Given the description of an element on the screen output the (x, y) to click on. 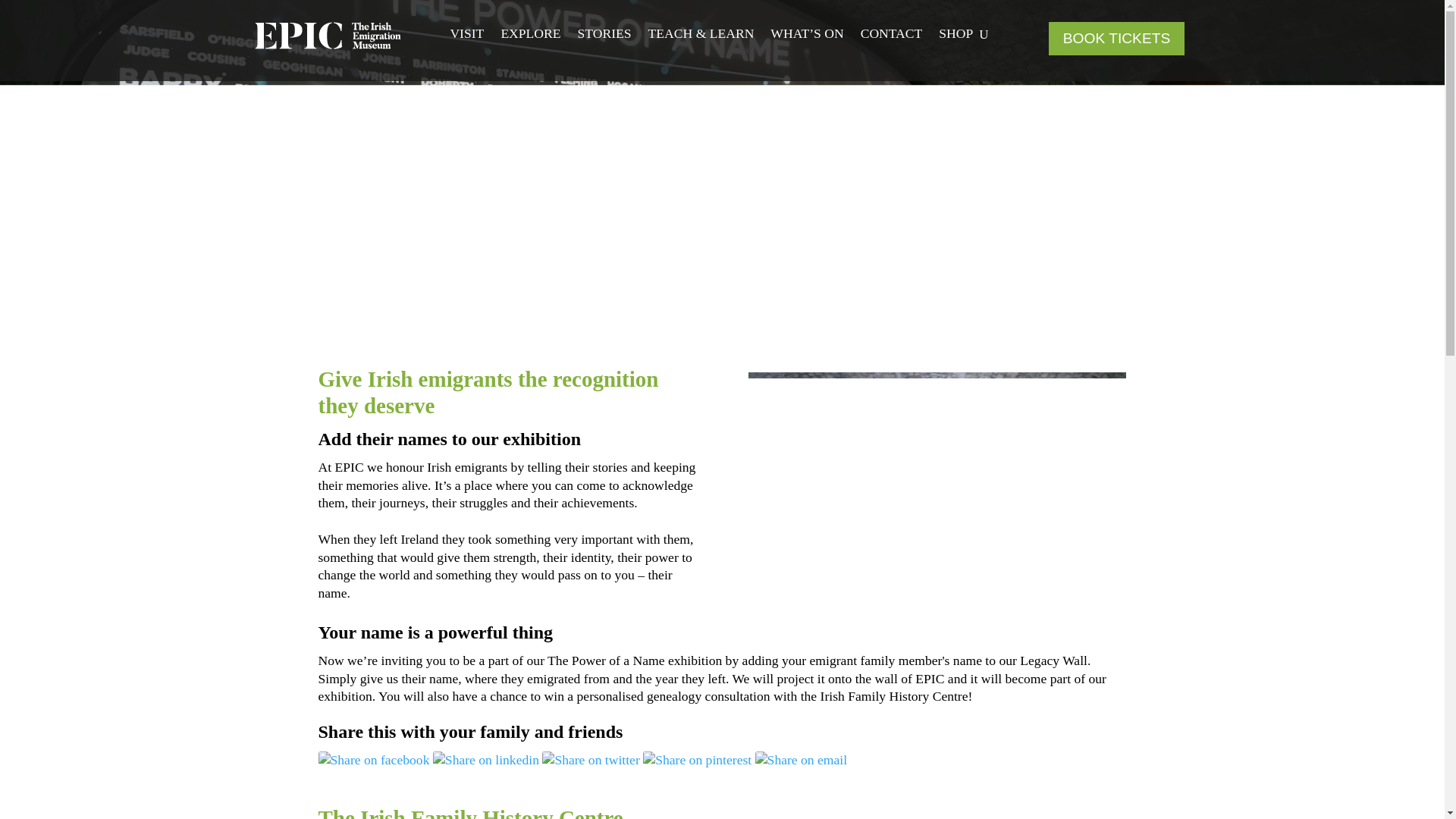
SHOP (955, 36)
EPIC The Irish Emigration Museum (327, 35)
STORIES (604, 47)
VISIT (466, 50)
EXPLORE (530, 49)
BOOK TICKETS (1116, 38)
CONTACT (891, 36)
